Given the description of an element on the screen output the (x, y) to click on. 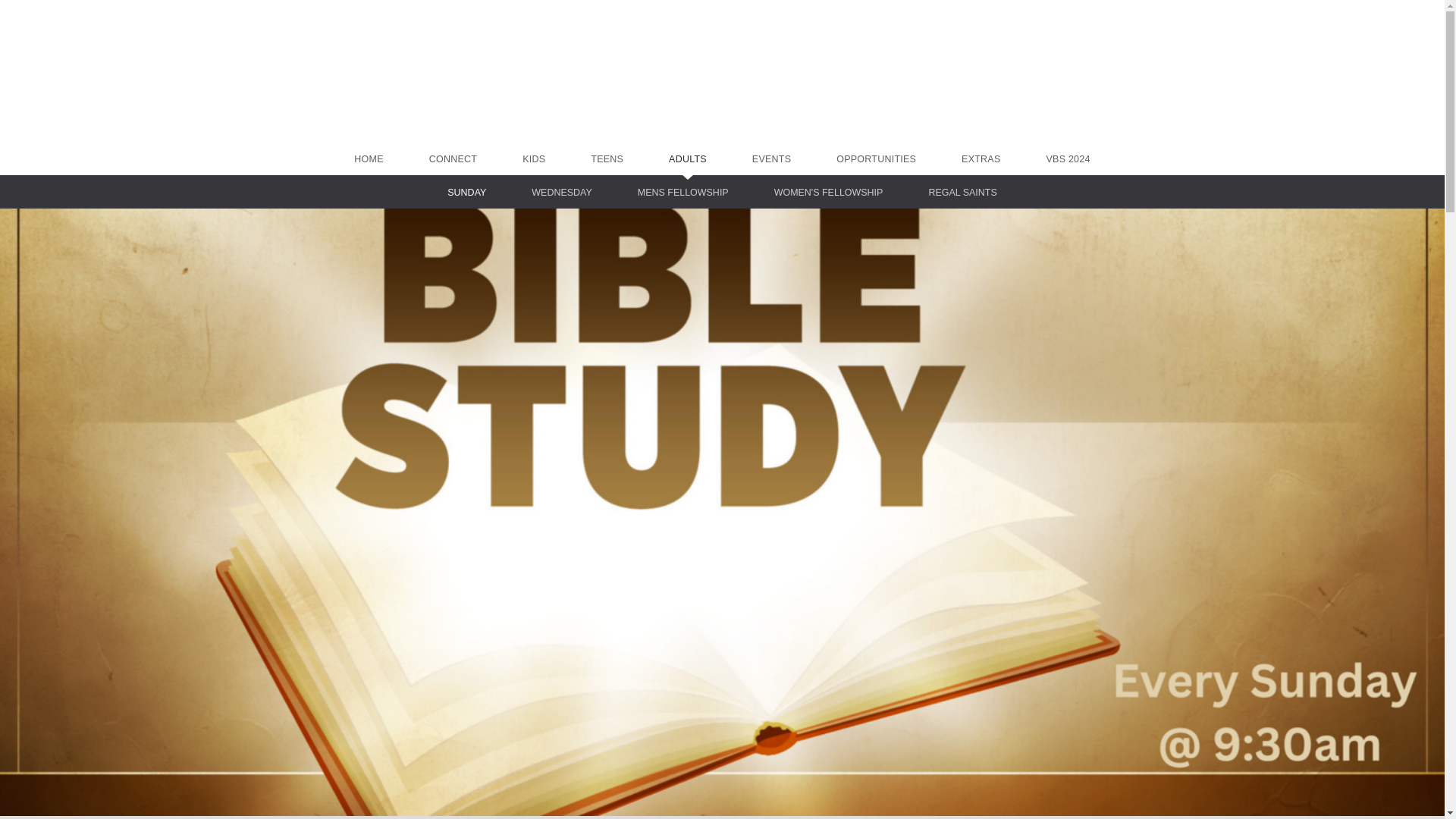
HOME (367, 158)
KIDS (533, 158)
TEENS (607, 158)
CONNECT (453, 158)
